Given the description of an element on the screen output the (x, y) to click on. 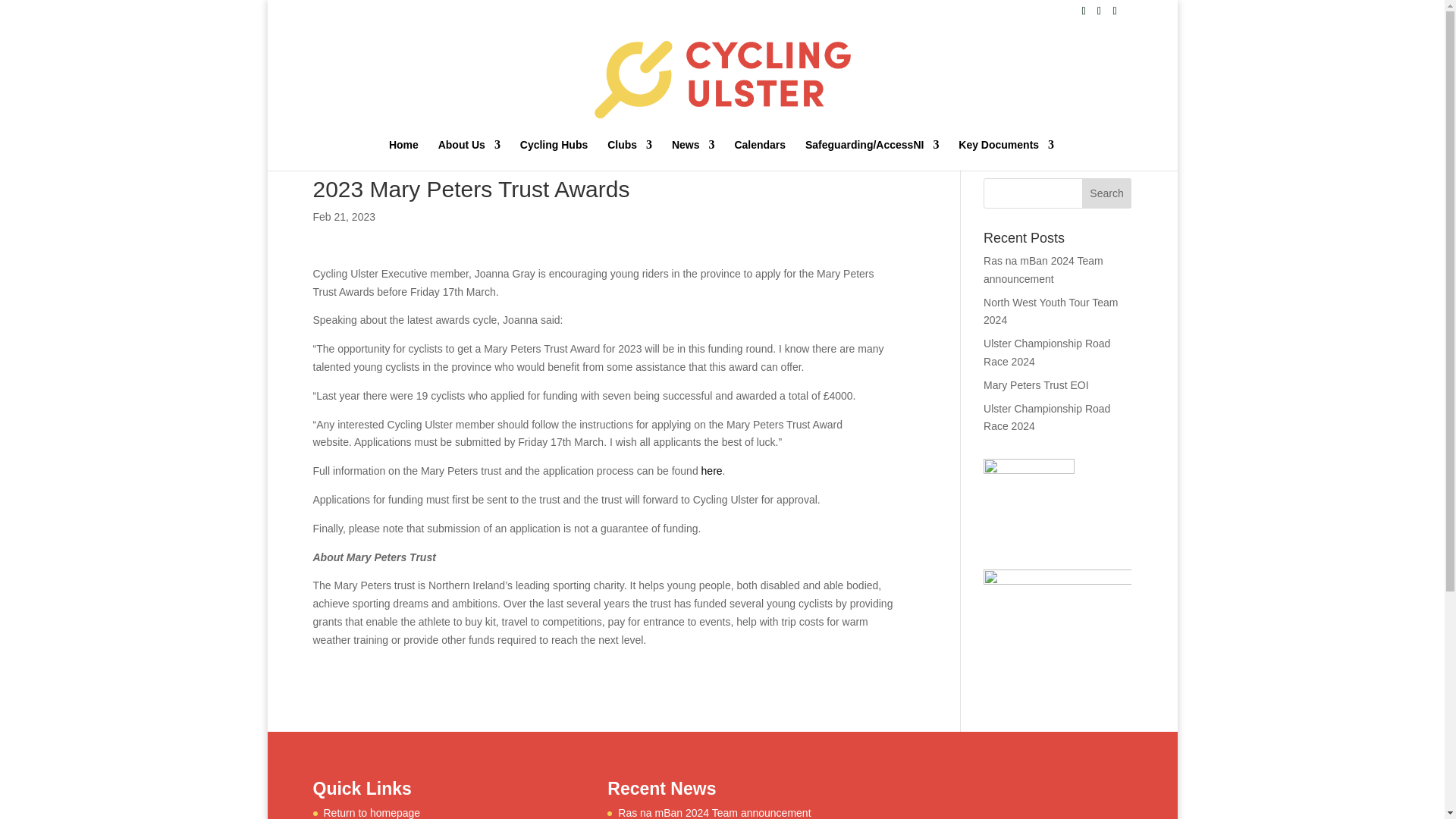
Search (1106, 193)
About Us (469, 154)
Search (1106, 193)
Clubs (629, 154)
Calendars (759, 154)
here (711, 470)
Ulster Championship Road Race 2024 (1046, 417)
North West Youth Tour Team 2024 (1051, 311)
Mary Peters Trust EOI (1035, 385)
Home (403, 154)
